Given the description of an element on the screen output the (x, y) to click on. 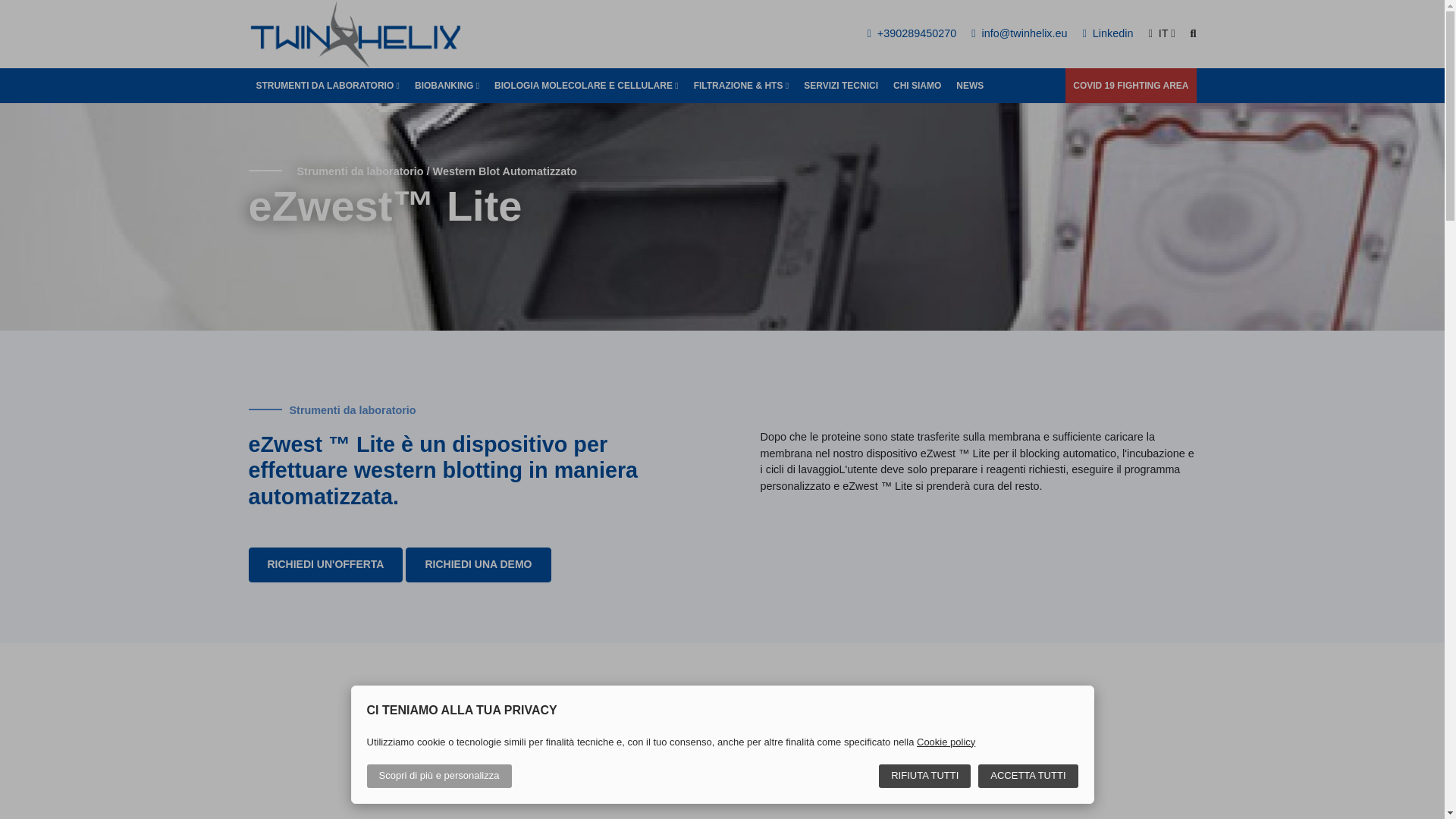
  Linkedin (1108, 33)
STRUMENTI DA LABORATORIO (327, 85)
BIOBANKING (446, 85)
